Given the description of an element on the screen output the (x, y) to click on. 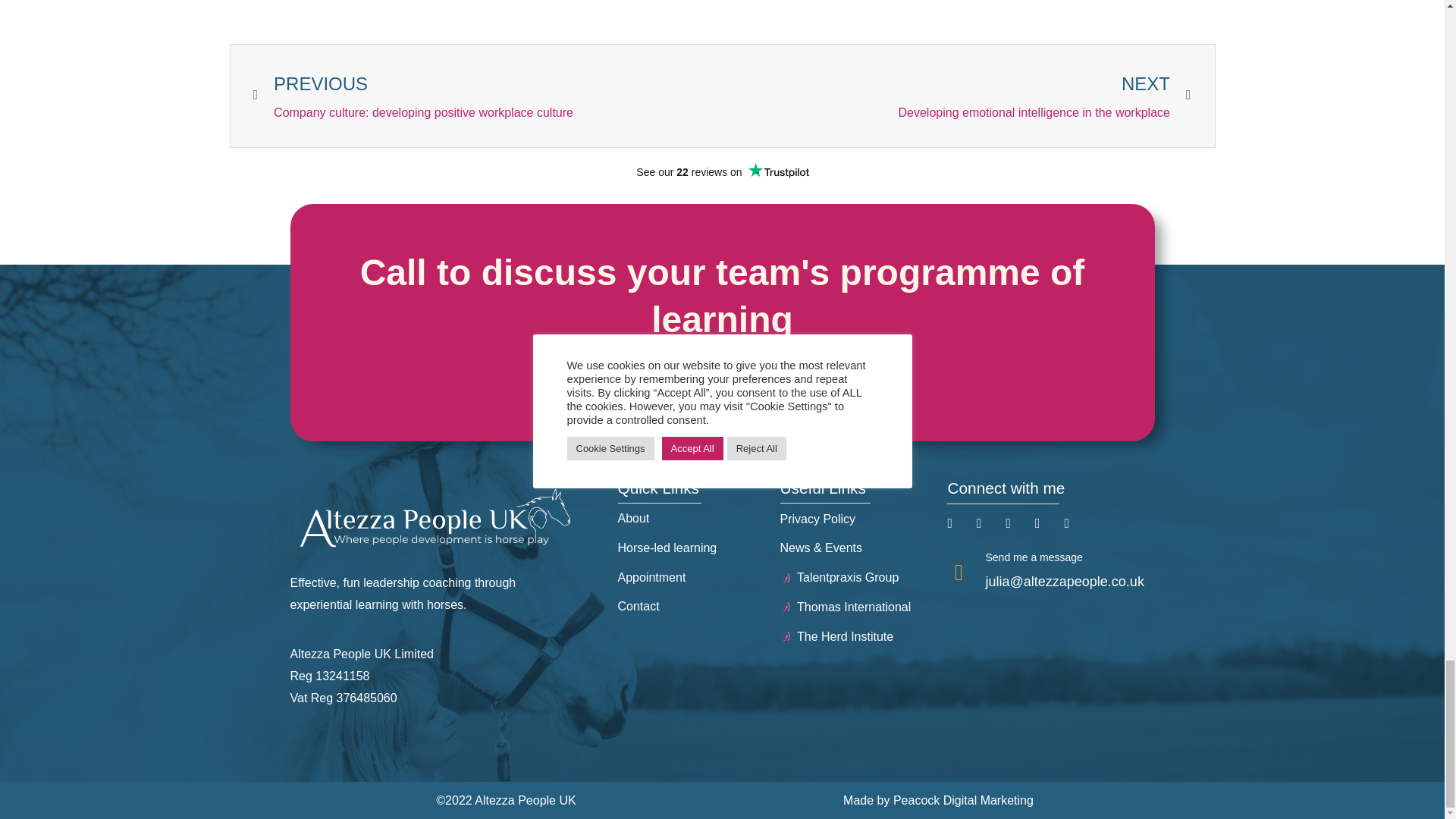
Customer reviews powered by Trustpilot (721, 171)
BOOK NOW (956, 95)
About (721, 380)
